Given the description of an element on the screen output the (x, y) to click on. 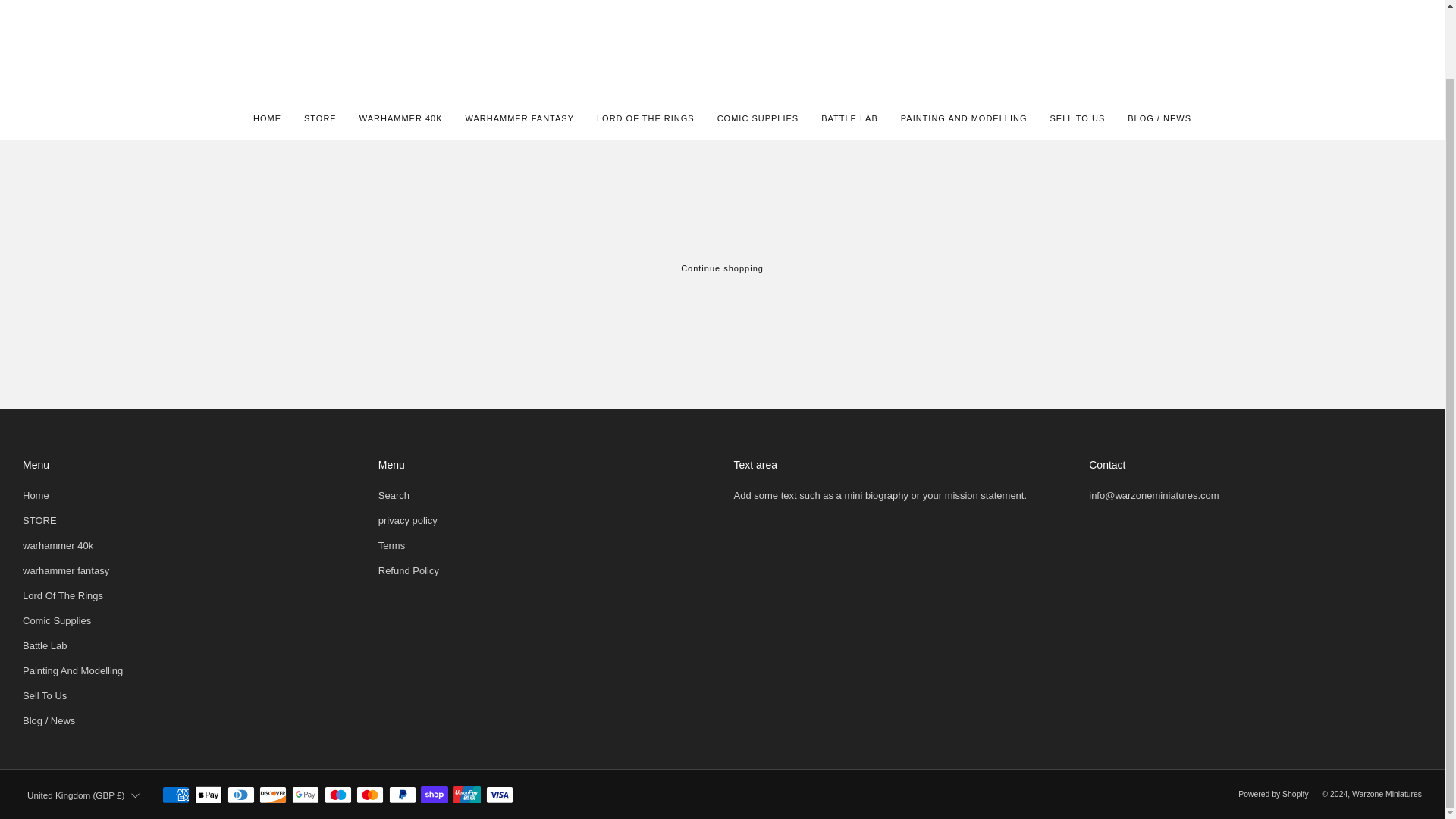
STORE (320, 118)
HOME (267, 118)
WARHAMMER 40K (400, 118)
WARHAMMER FANTASY (518, 118)
